Given the description of an element on the screen output the (x, y) to click on. 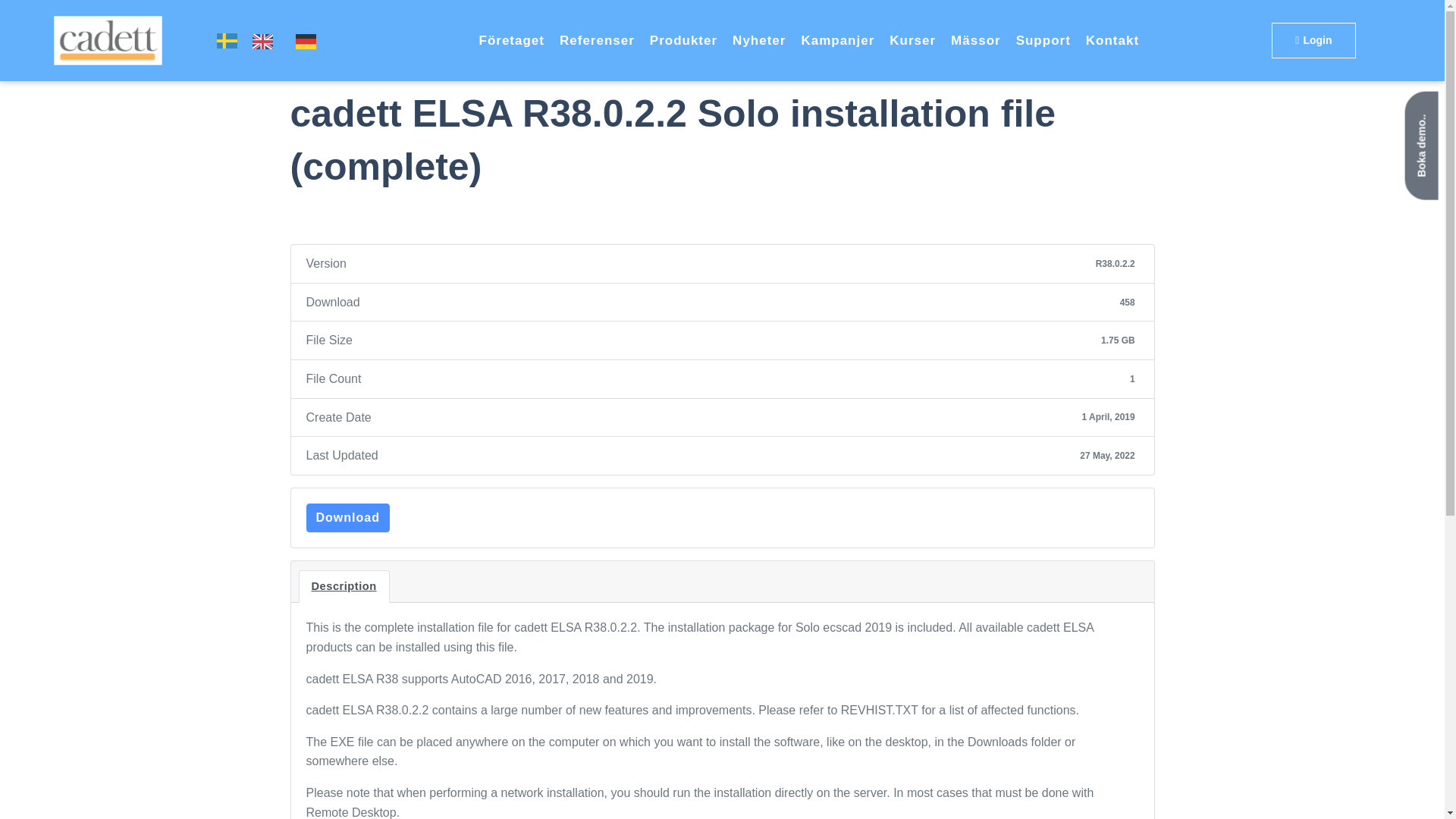
Kampanjer (837, 39)
Kurser (912, 39)
Produkter (683, 39)
Nyheter (759, 39)
Support (1043, 39)
Language switcher : English (266, 40)
Language switcher : German (309, 40)
Referenser (596, 39)
Kontakt (1112, 39)
